Given the description of an element on the screen output the (x, y) to click on. 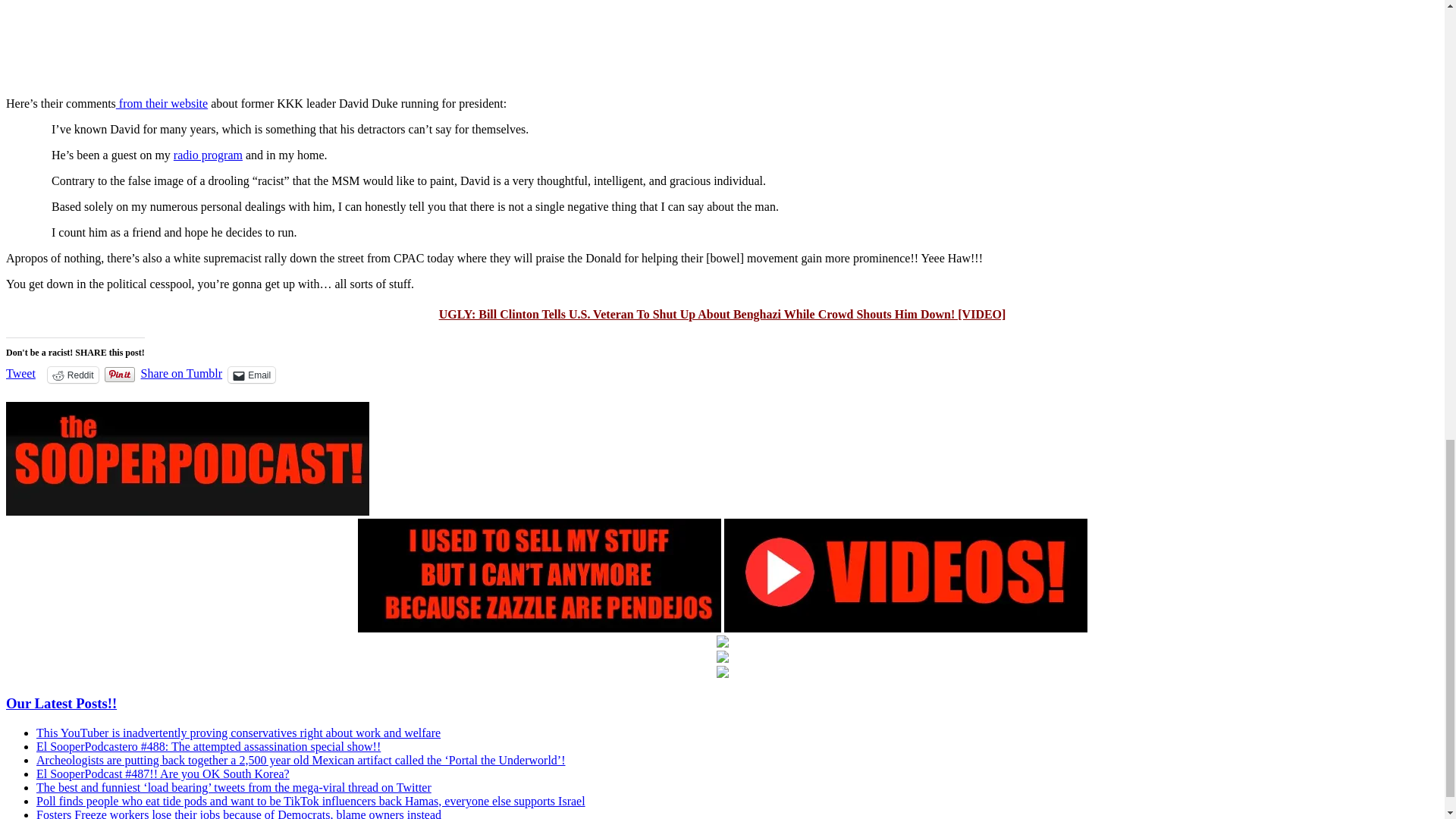
Share on Tumblr (181, 373)
from their website (162, 103)
Tweet (19, 373)
Share on Tumblr (181, 373)
Click to share on Reddit (73, 374)
radio program (208, 154)
Email (251, 374)
Reddit (73, 374)
Click to email a link to a friend (251, 374)
